Given the description of an element on the screen output the (x, y) to click on. 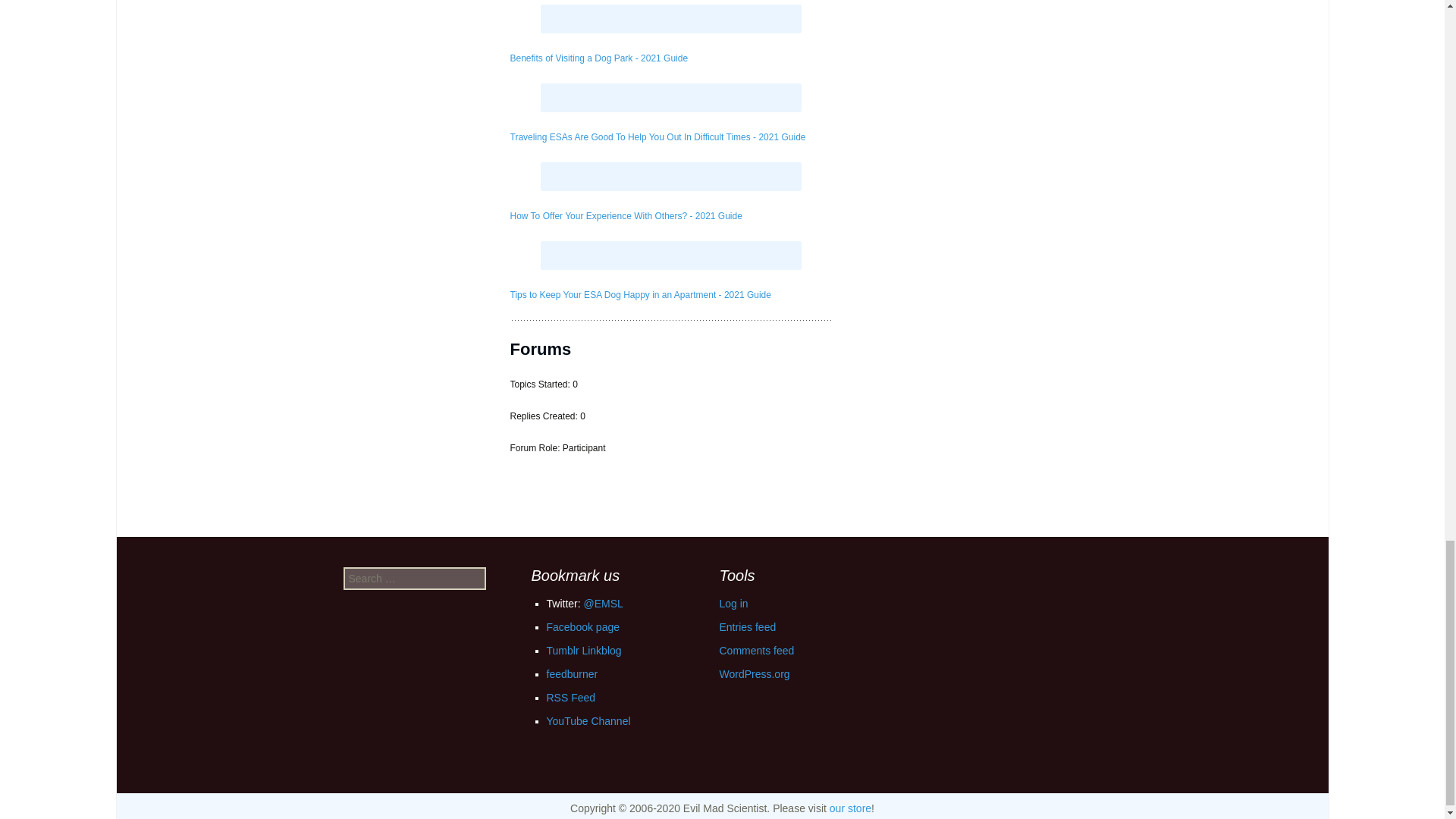
Evil Mad Scientist Shop (849, 808)
Benefits of Visiting a Dog Park - 2021 Guide (598, 58)
Tips to Keep Your ESA Dog Happy in an Apartment - 2021 Guide (639, 294)
How To Offer Your Experience With Others? - 2021 Guide (625, 215)
